Given the description of an element on the screen output the (x, y) to click on. 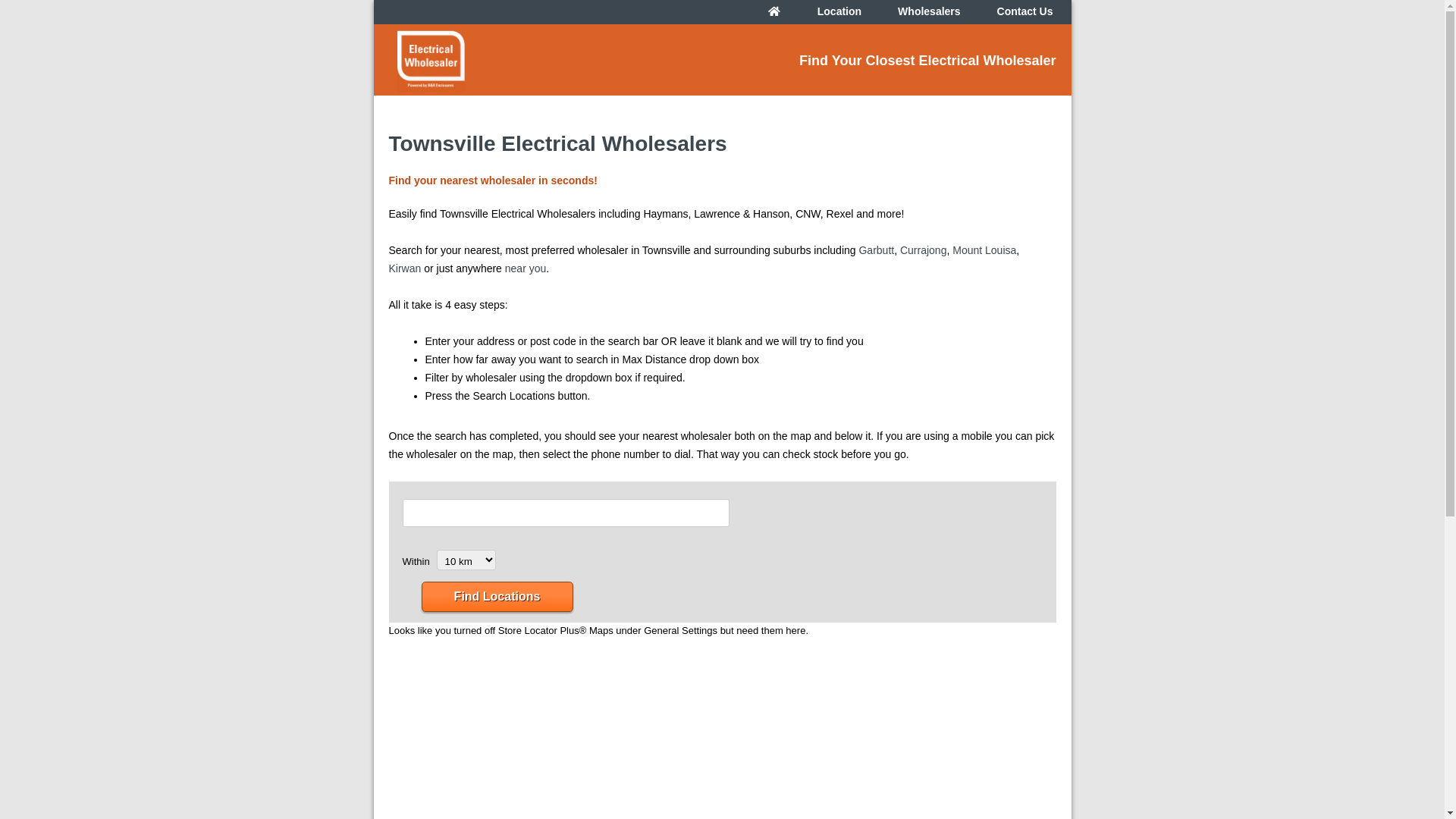
Skip to content Element type: text (721, 0)
Contact Us Element type: text (1025, 11)
Kirwan Element type: text (404, 268)
Garbutt Element type: text (876, 250)
Currajong Element type: text (923, 250)
Wholesalers Element type: text (928, 11)
Find Locations Element type: text (497, 596)
Location Element type: text (839, 11)
Mount Louisa Element type: text (984, 250)
near you Element type: text (525, 268)
